Given the description of an element on the screen output the (x, y) to click on. 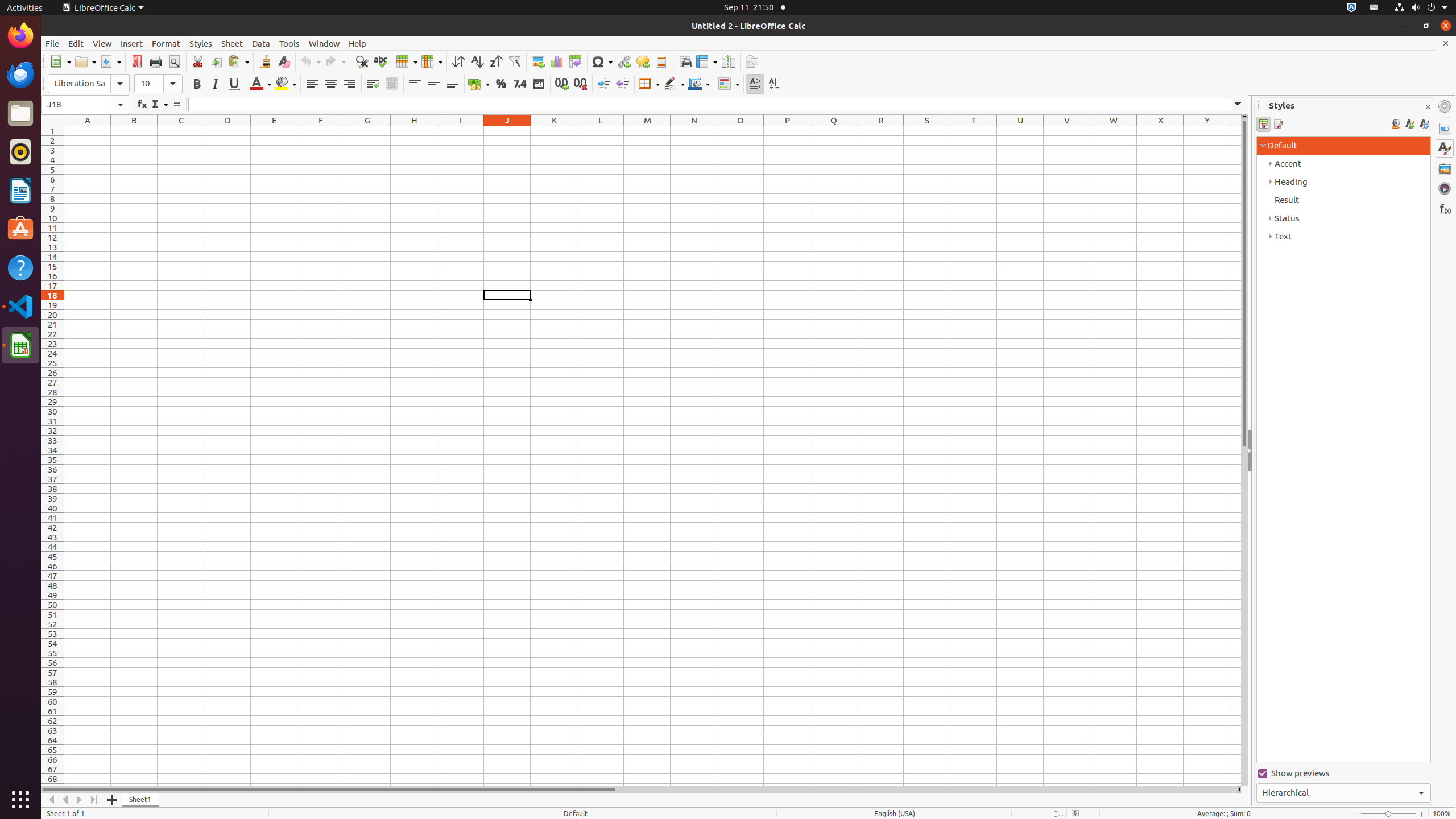
M1 Element type: table-cell (646, 130)
O1 Element type: table-cell (740, 130)
Close Sidebar Deck Element type: push-button (1427, 106)
Symbol Element type: push-button (601, 61)
L1 Element type: table-cell (600, 130)
